Given the description of an element on the screen output the (x, y) to click on. 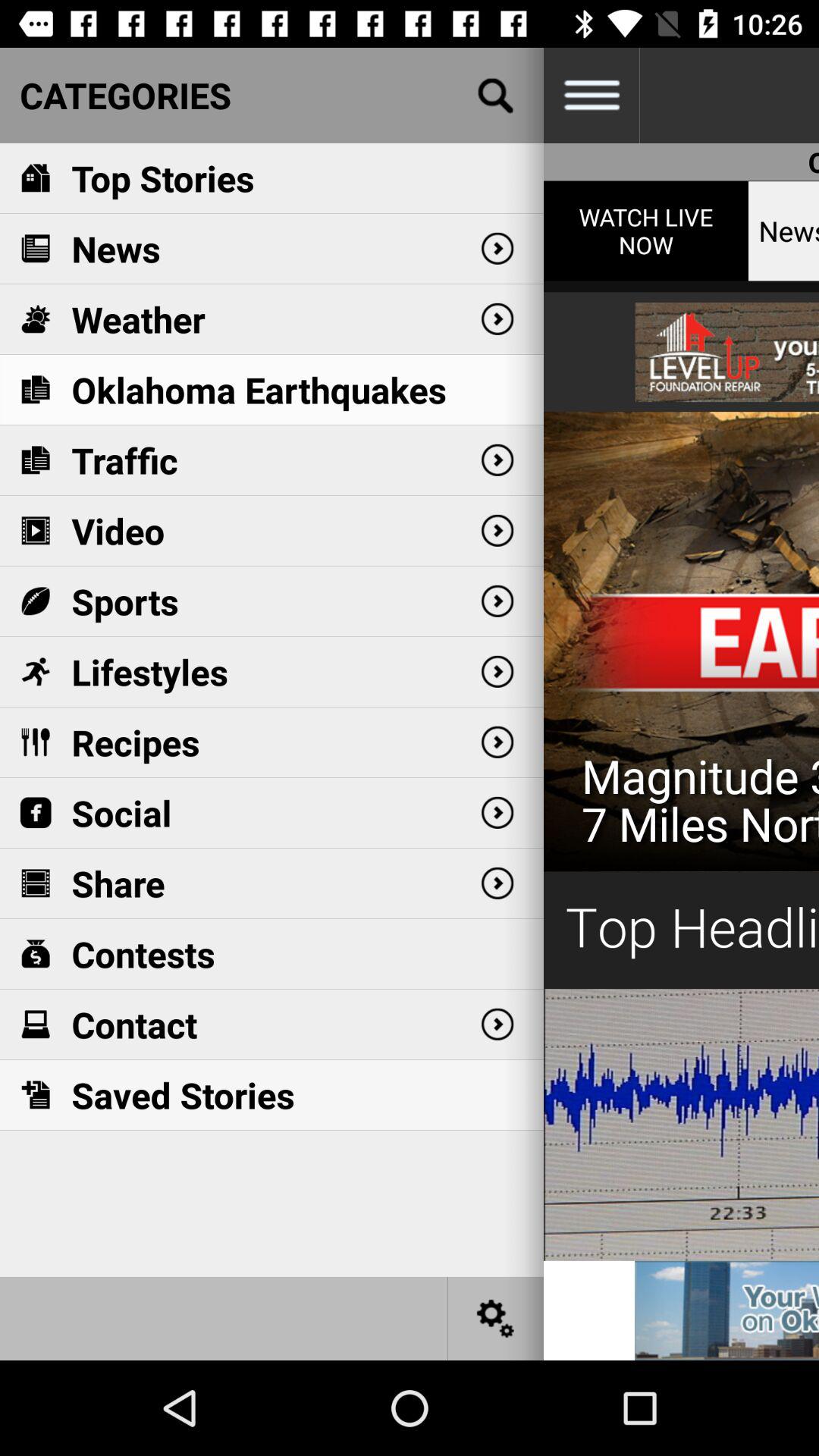
color print (681, 720)
